Given the description of an element on the screen output the (x, y) to click on. 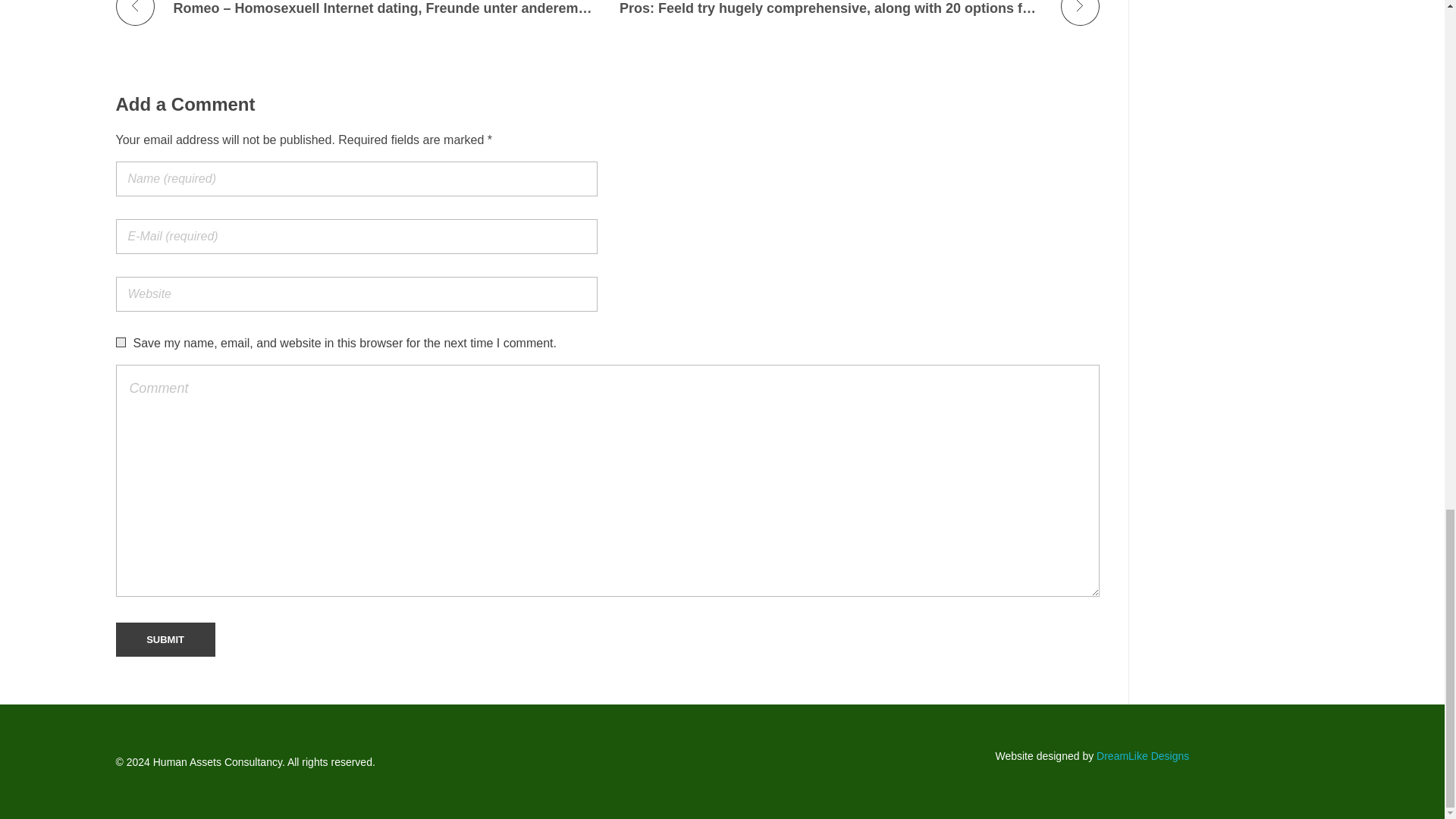
Submit (164, 639)
Submit (164, 639)
yes (120, 342)
